Given the description of an element on the screen output the (x, y) to click on. 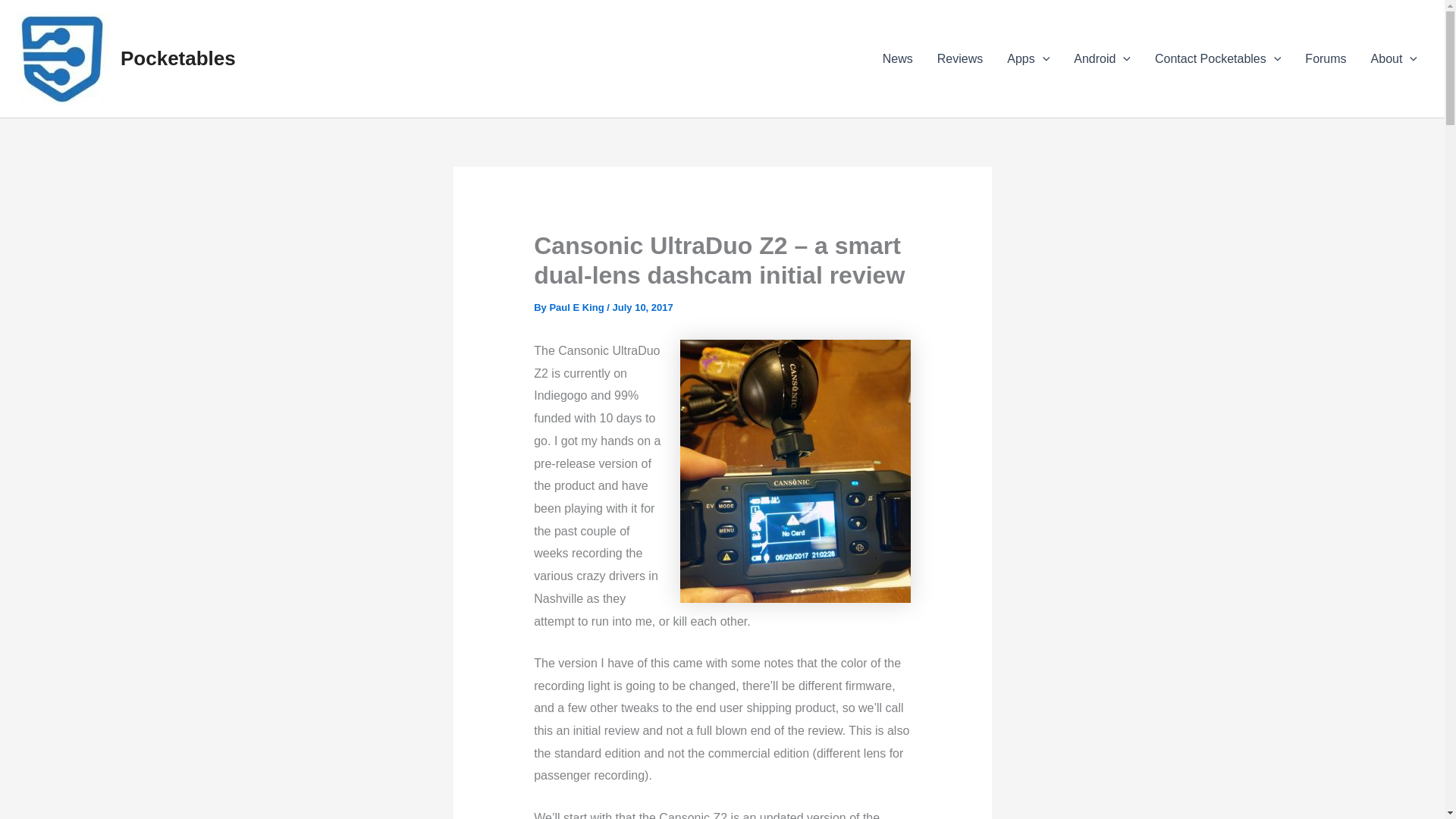
View all posts by Paul E King (576, 307)
Android (1101, 58)
About (1393, 58)
Reviews (959, 58)
Pocketables (177, 57)
Contact Pocketables (1217, 58)
Forums (1325, 58)
Apps (1027, 58)
News (897, 58)
